Given the description of an element on the screen output the (x, y) to click on. 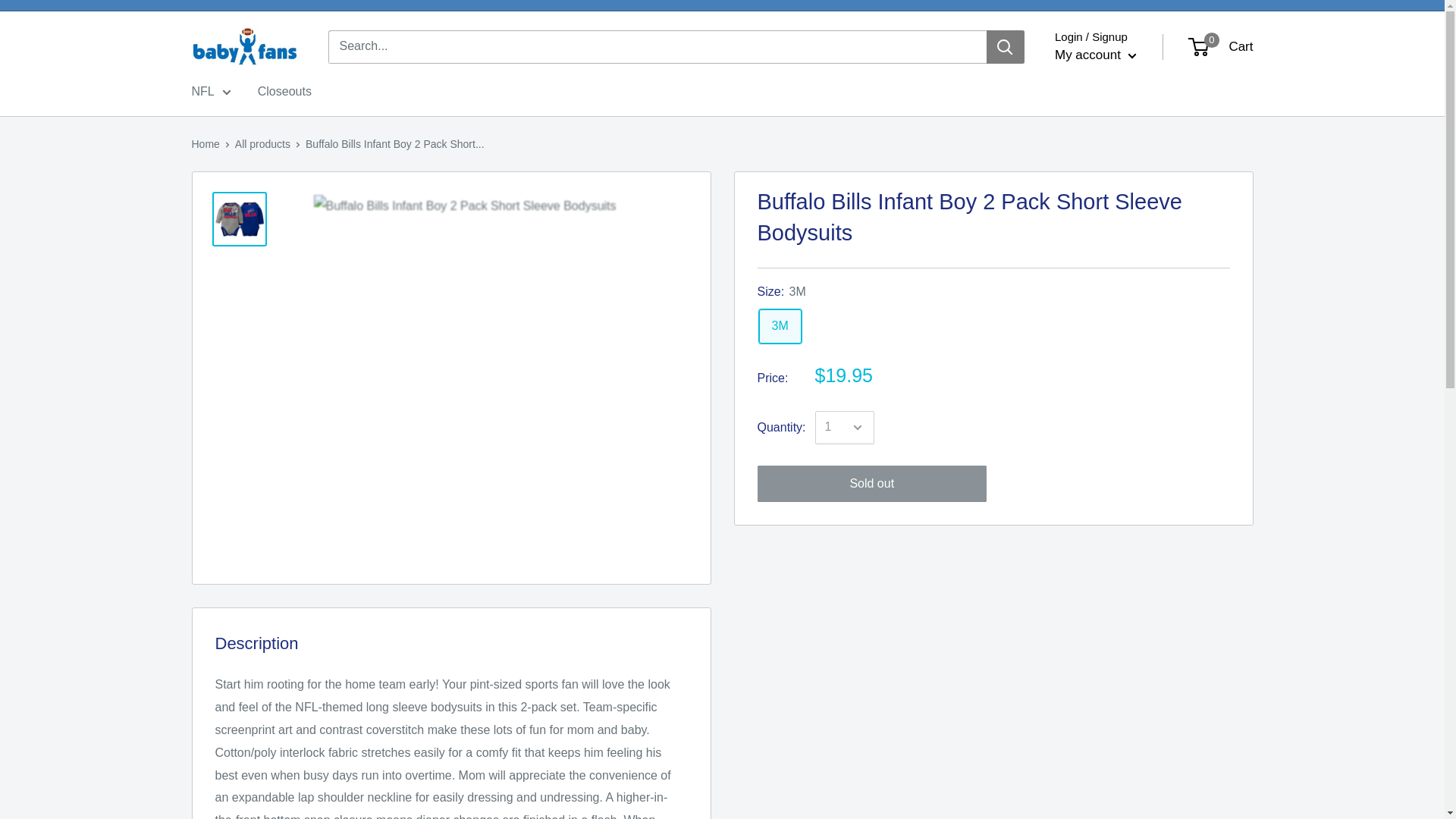
3M (779, 326)
